Given the description of an element on the screen output the (x, y) to click on. 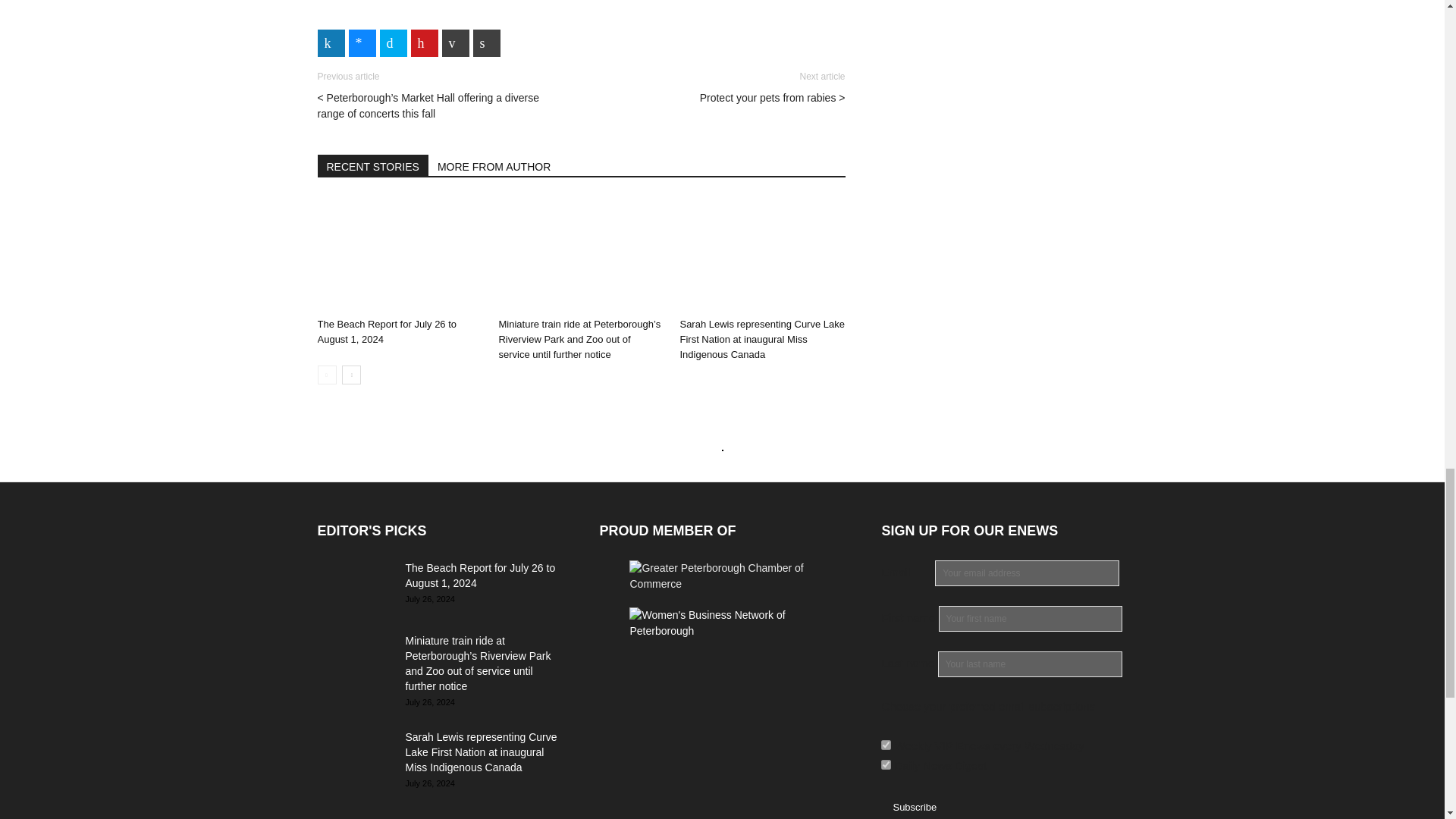
Subscribe (913, 807)
db73b12d6e (885, 745)
324c67885b (885, 764)
